Given the description of an element on the screen output the (x, y) to click on. 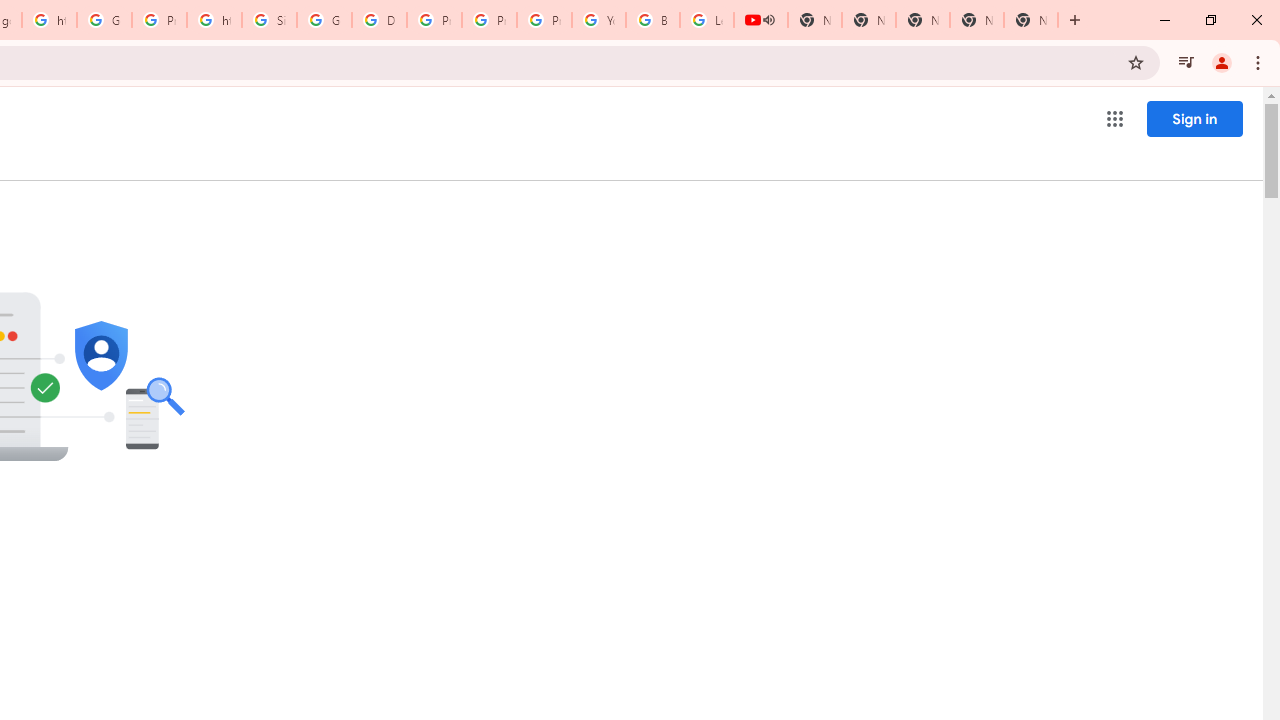
New Tab (1030, 20)
Browse Chrome as a guest - Computer - Google Chrome Help (652, 20)
Mute tab (768, 20)
Control your music, videos, and more (1185, 62)
https://scholar.google.com/ (213, 20)
